Given the description of an element on the screen output the (x, y) to click on. 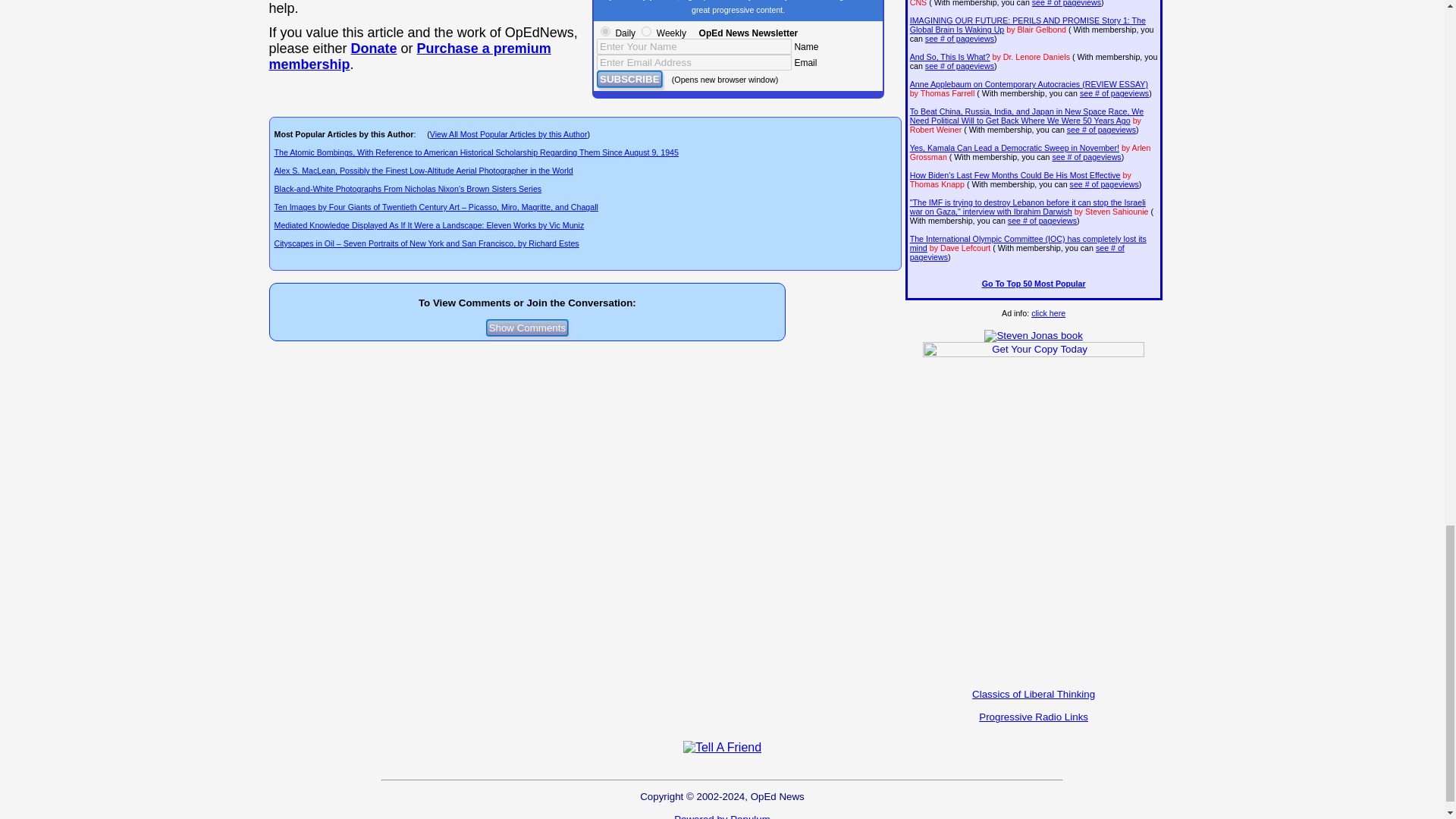
Enter Email Address (694, 62)
-- (373, 48)
SUBSCRIBE (629, 78)
Daily (604, 31)
Weekly (646, 31)
Enter Your Name (694, 46)
-- (408, 56)
Show Comments (527, 327)
